Given the description of an element on the screen output the (x, y) to click on. 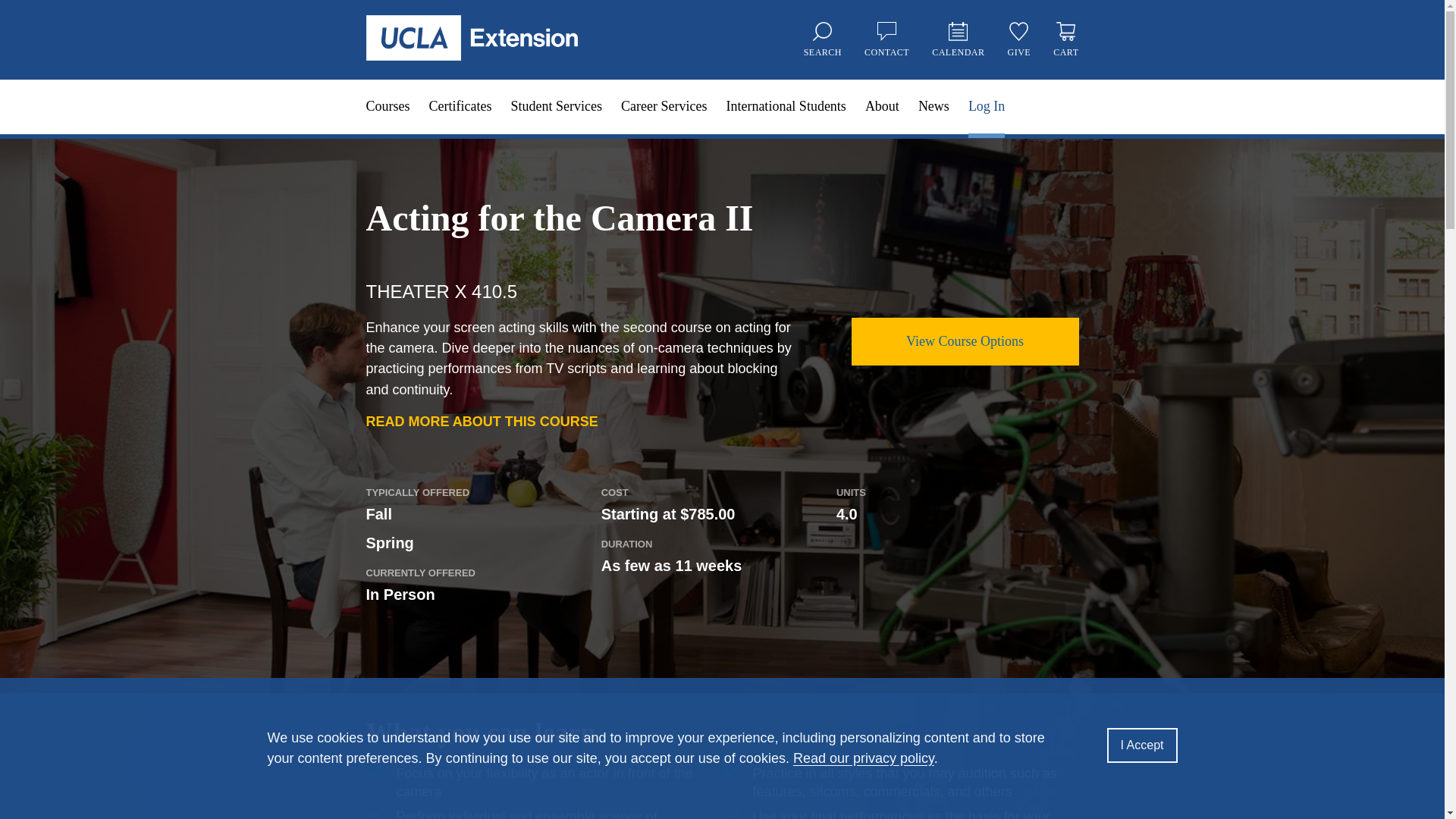
View Course Options (964, 341)
READ MORE ABOUT THIS COURSE (480, 421)
